Given the description of an element on the screen output the (x, y) to click on. 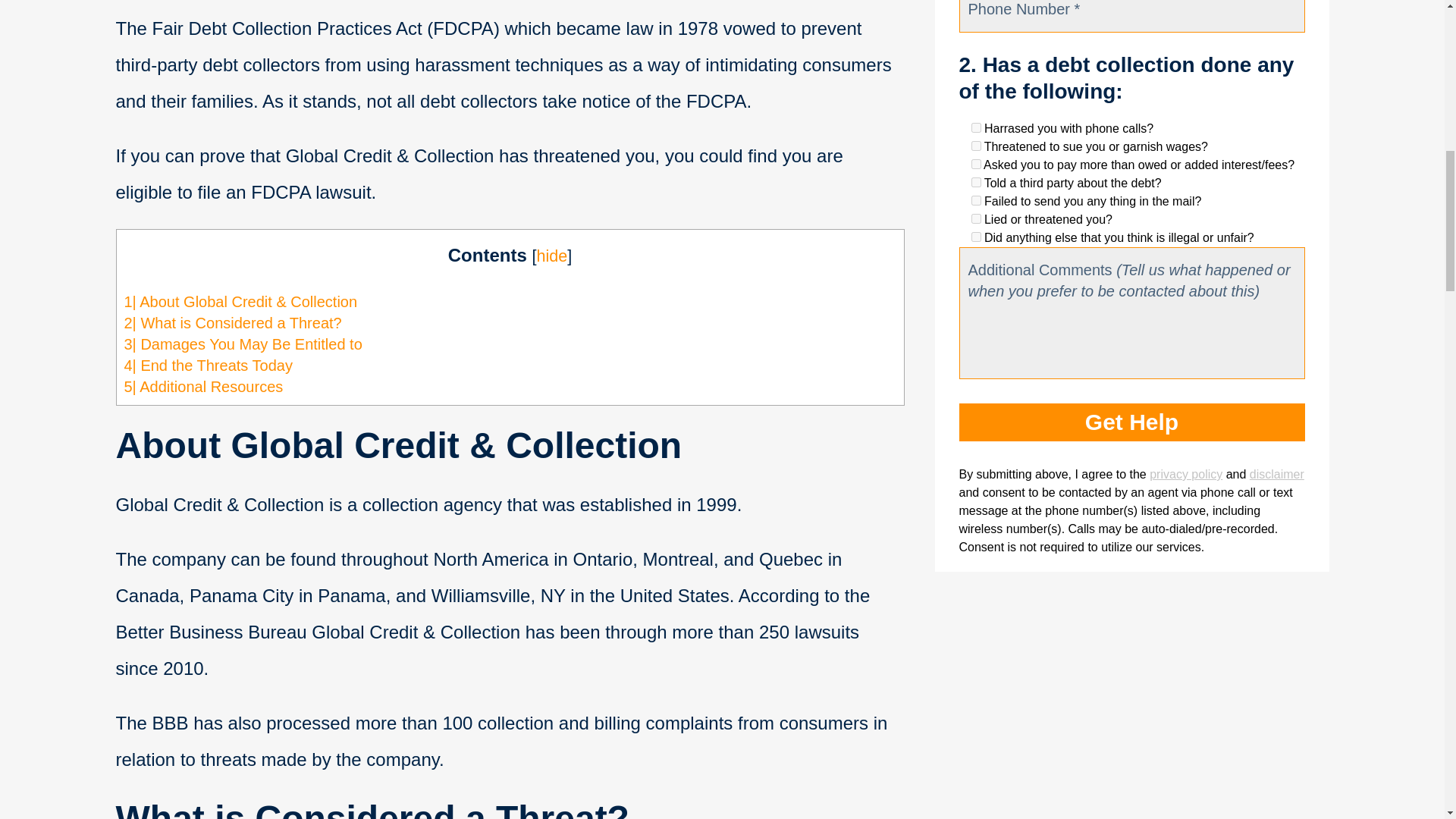
Told a third party about the debt? (975, 182)
Did anything else that you think is illegal or unfair? (975, 236)
Harrased you with phone calls? (975, 127)
Failed to send you any thing in the mail? (975, 200)
Get Help (1131, 422)
privacy policy (1186, 473)
Get Help (1131, 422)
Lied or threatened you? (975, 218)
hide (551, 255)
Threatened to sue you or garnish wages? (975, 145)
disclaimer (1276, 473)
